Given the description of an element on the screen output the (x, y) to click on. 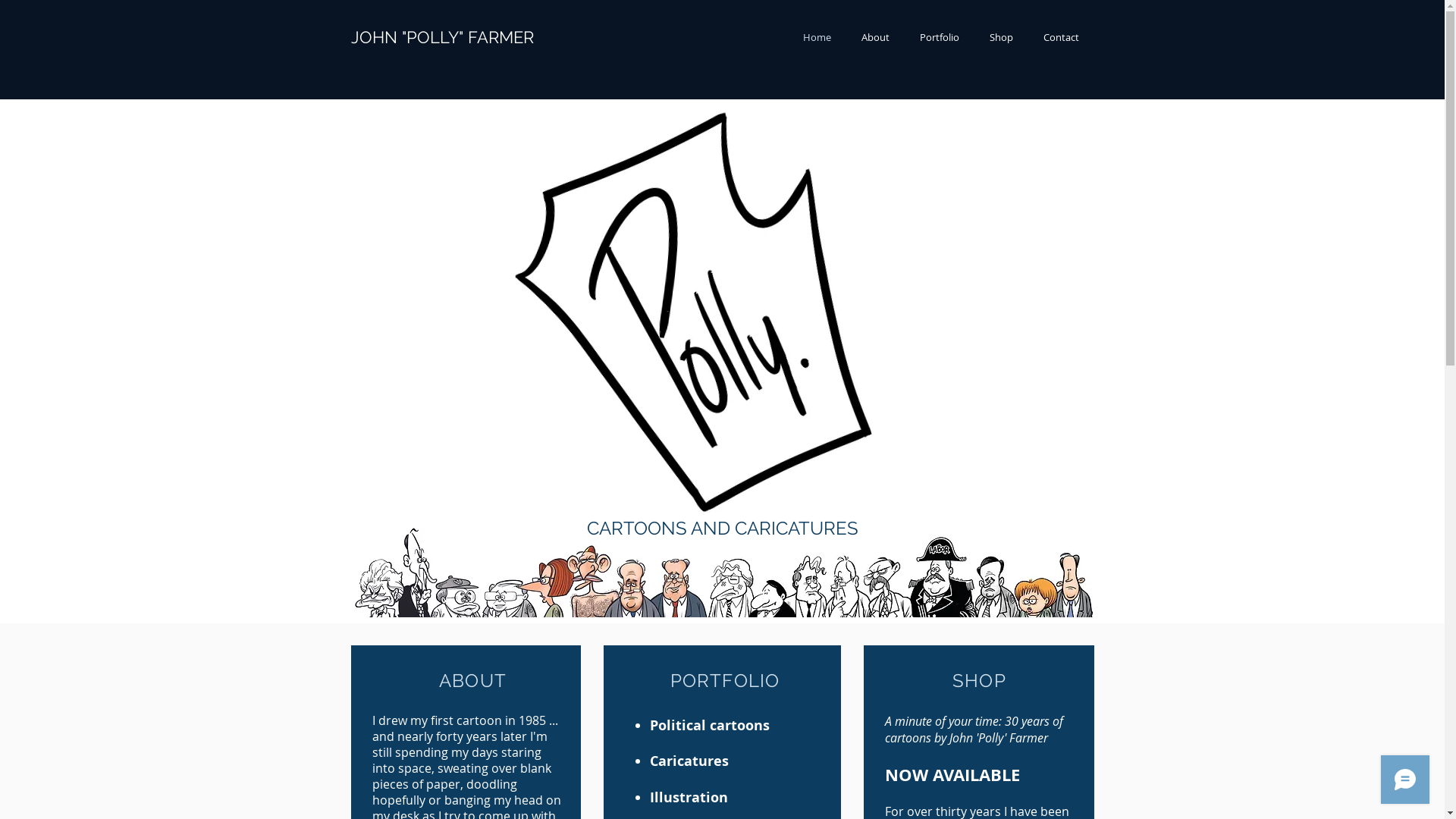
About Element type: text (875, 37)
Portfolio Element type: text (938, 37)
JOHN "POLLY" FARMER Element type: text (441, 37)
Home Element type: text (816, 37)
Contact Element type: text (1061, 37)
Shop Element type: text (1000, 37)
